Given the description of an element on the screen output the (x, y) to click on. 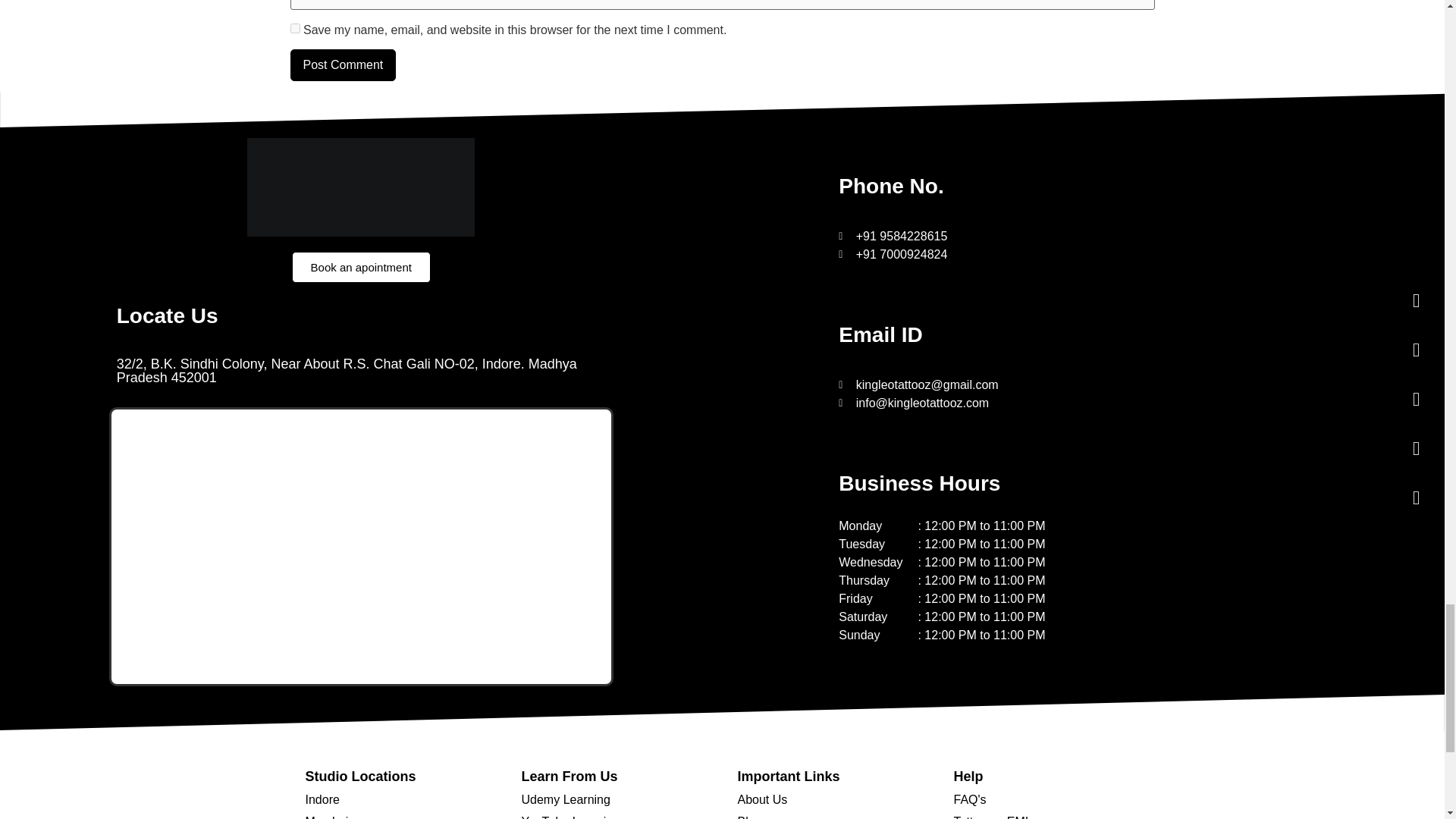
Post Comment (342, 65)
yes (294, 28)
